Given the description of an element on the screen output the (x, y) to click on. 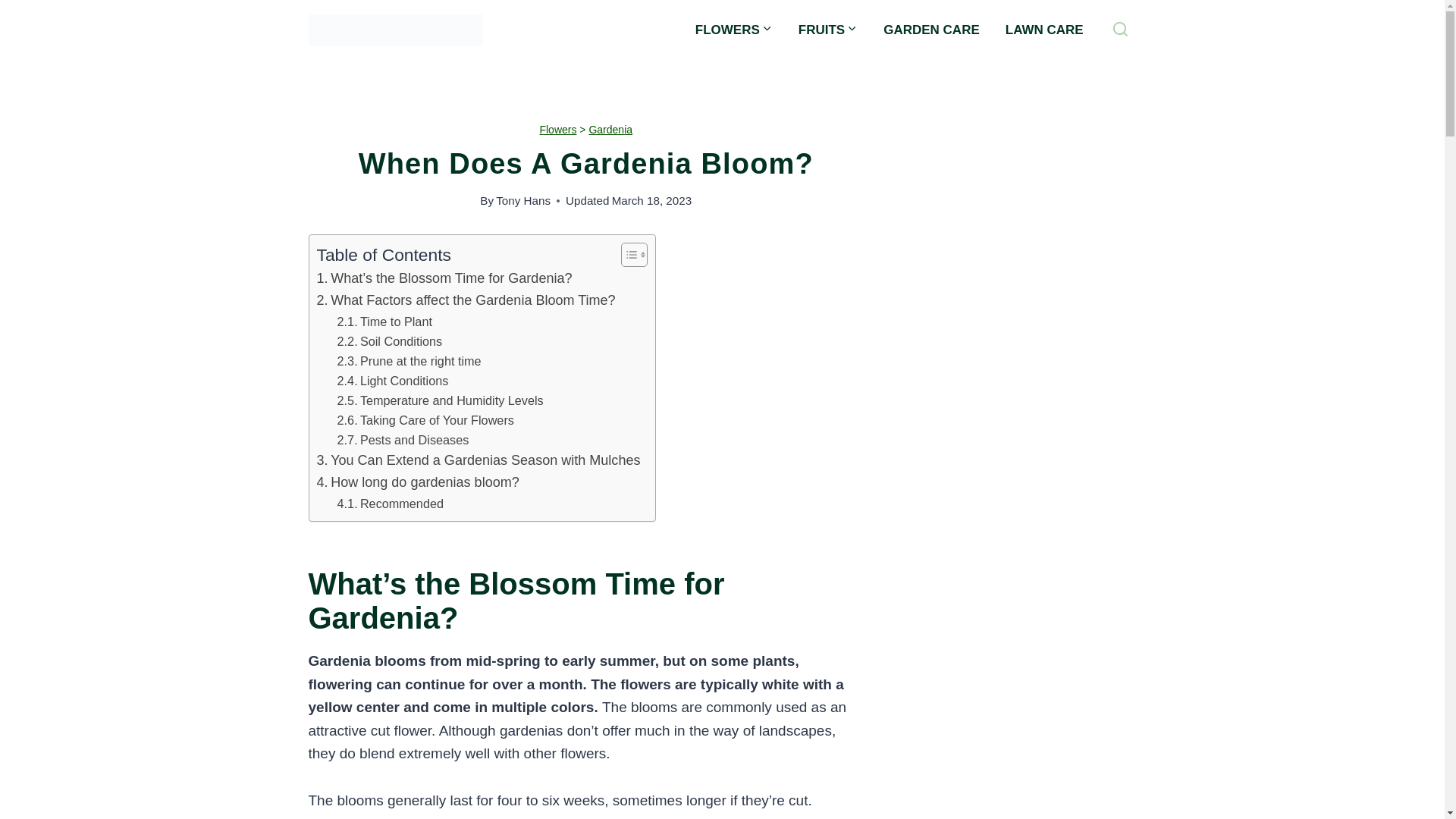
Time to Plant (384, 321)
Soil Conditions (389, 341)
You Can Extend a Gardenias Season with Mulches (478, 460)
Light Conditions (392, 380)
Prune at the right time (409, 361)
Flowers (557, 129)
FLOWERS (734, 30)
GARDEN CARE (931, 30)
Recommended (390, 503)
Prune at the right time (409, 361)
